Given the description of an element on the screen output the (x, y) to click on. 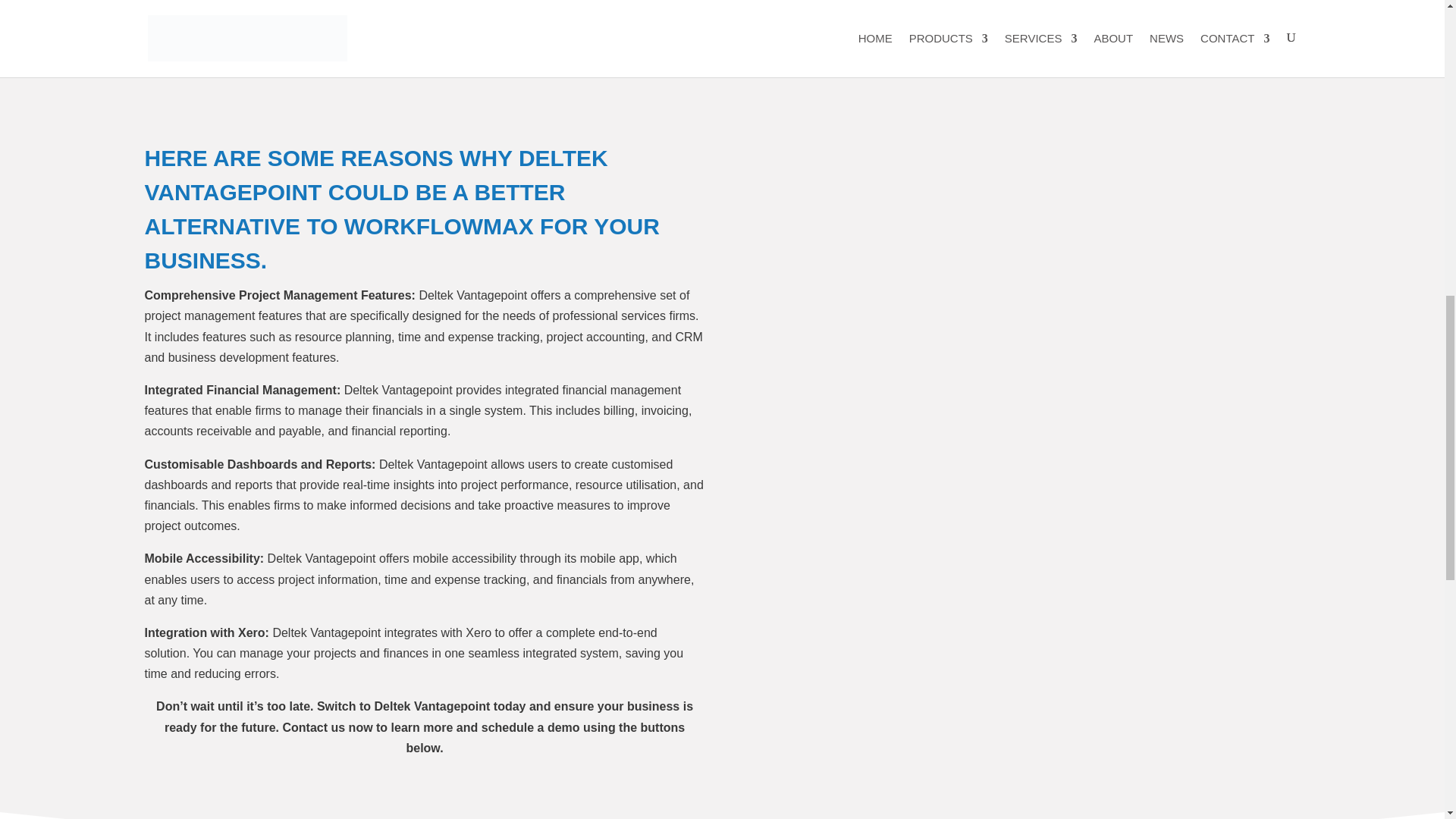
Smart-Software-BG-027 (568, 27)
